Given the description of an element on the screen output the (x, y) to click on. 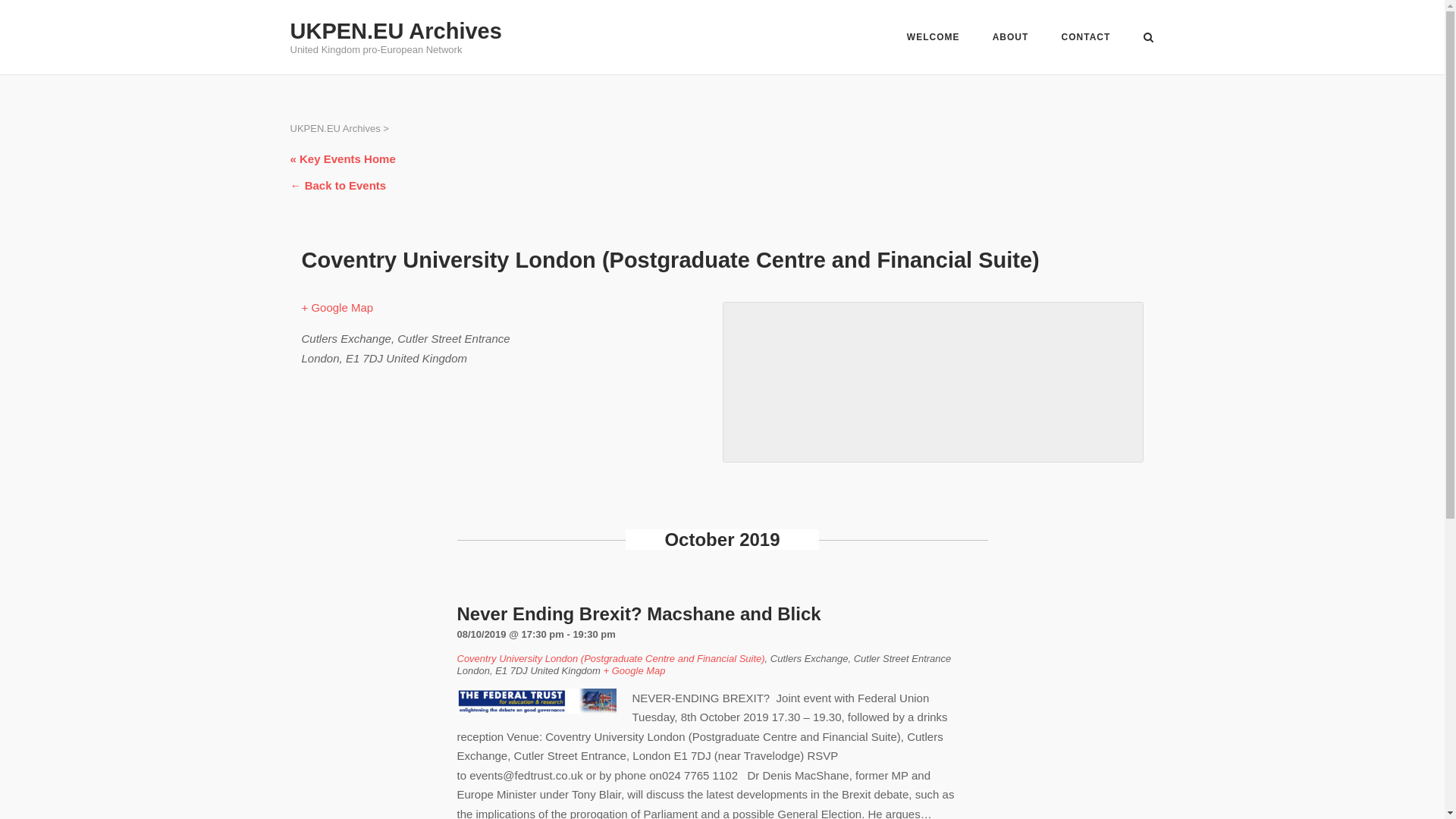
UKPEN.EU Archives (334, 128)
WELCOME (933, 39)
Never Ending Brexit? Macshane and Blick (639, 613)
Go to UKPEN.EU Archives. (334, 128)
Never Ending Brexit? Macshane and Blick (639, 613)
Click to view a Google Map (337, 307)
ABOUT (1010, 39)
Click to view a Google Map (634, 670)
CONTACT (1085, 39)
UKPEN.EU Archives (394, 30)
